Given the description of an element on the screen output the (x, y) to click on. 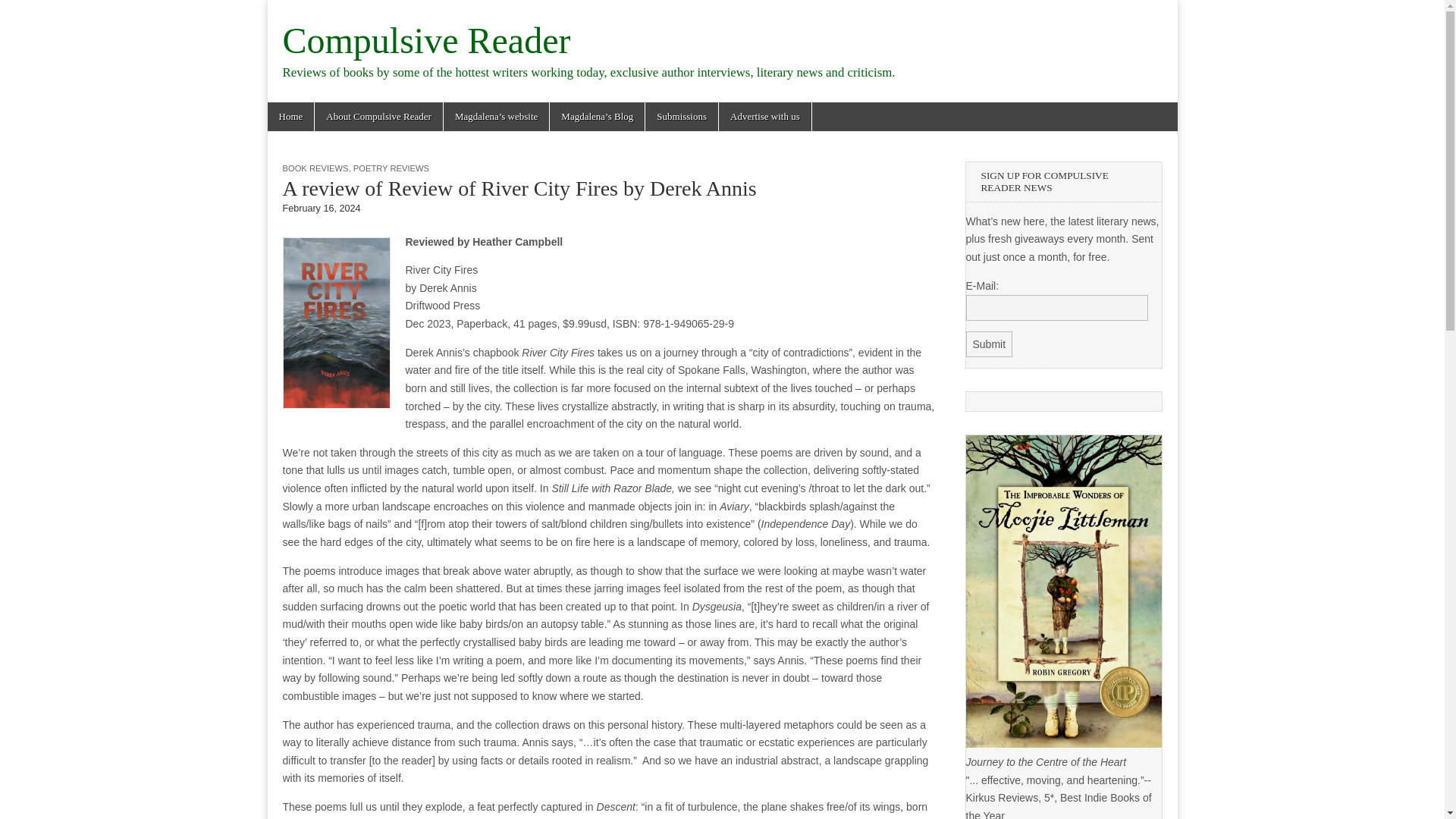
Compulsive Reader (426, 40)
Advertise with us (764, 116)
POETRY REVIEWS (391, 167)
Submit (989, 344)
About Compulsive Reader (378, 116)
Submissions (681, 116)
Submit (989, 344)
Compulsive Reader (426, 40)
Search (23, 12)
Home (290, 116)
BOOK REVIEWS (314, 167)
